Given the description of an element on the screen output the (x, y) to click on. 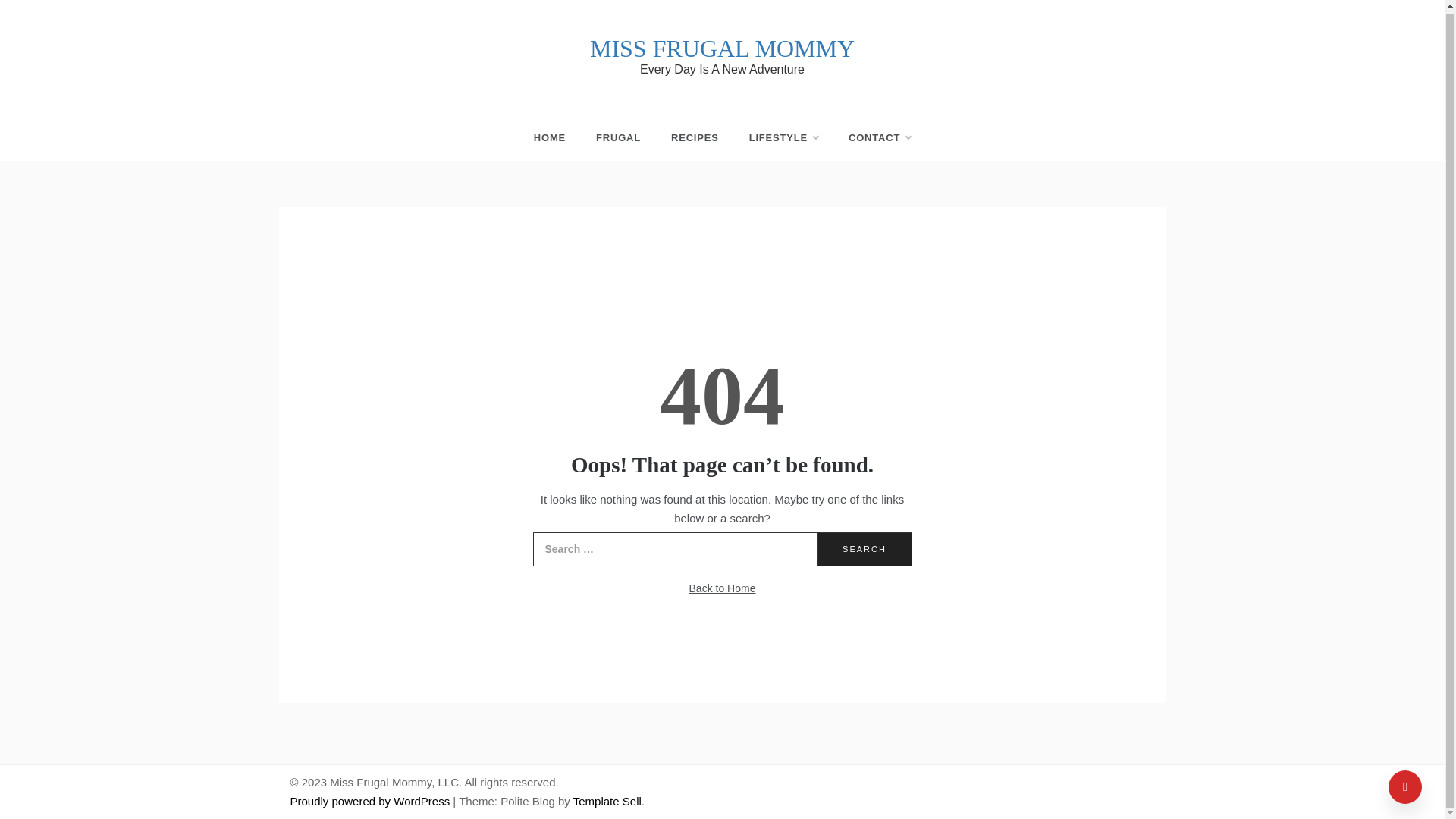
Template Sell (607, 800)
RECIPES (694, 137)
Search (864, 549)
Back to Home (721, 588)
CONTACT (871, 137)
MISS FRUGAL MOMMY (721, 48)
Go to Top (1405, 783)
Proudly powered by WordPress (370, 800)
LIFESTYLE (782, 137)
FRUGAL (618, 137)
Search (864, 549)
Search (864, 549)
HOME (557, 137)
